Given the description of an element on the screen output the (x, y) to click on. 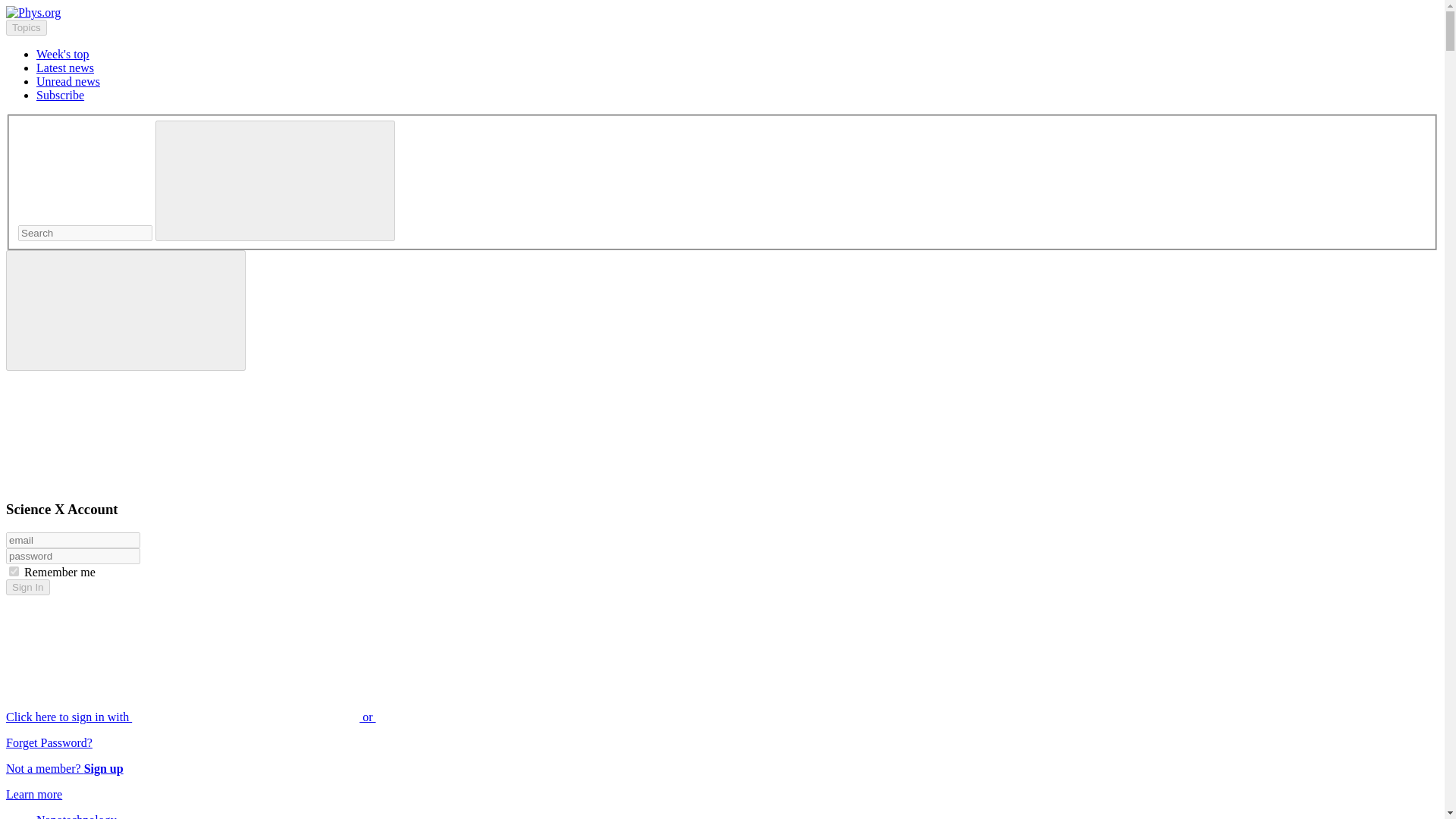
Not a member? Sign up (64, 768)
Learn more (33, 793)
Forget Password? (49, 742)
Subscribe (60, 94)
Sign In (27, 587)
Unread news (68, 81)
Nanotechnology (76, 816)
Latest news (65, 67)
on (13, 571)
Topics (25, 27)
Click here to sign in with or (304, 716)
Week's top (62, 53)
